Given the description of an element on the screen output the (x, y) to click on. 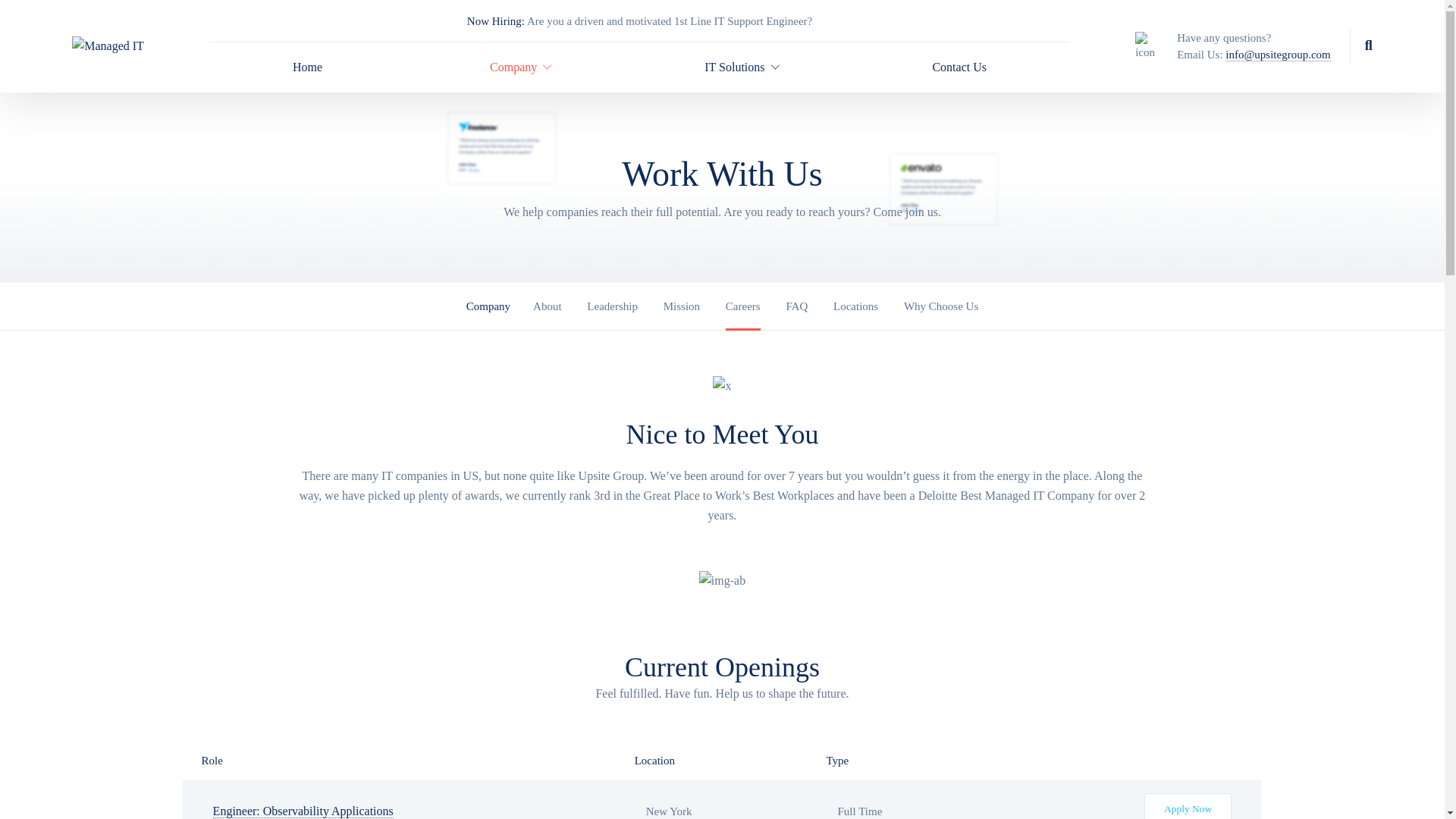
Now Hiring: (495, 21)
Contact Us (959, 67)
Company (513, 67)
img-ab (721, 580)
x (721, 385)
IT Solutions (734, 67)
Home (307, 67)
